Given the description of an element on the screen output the (x, y) to click on. 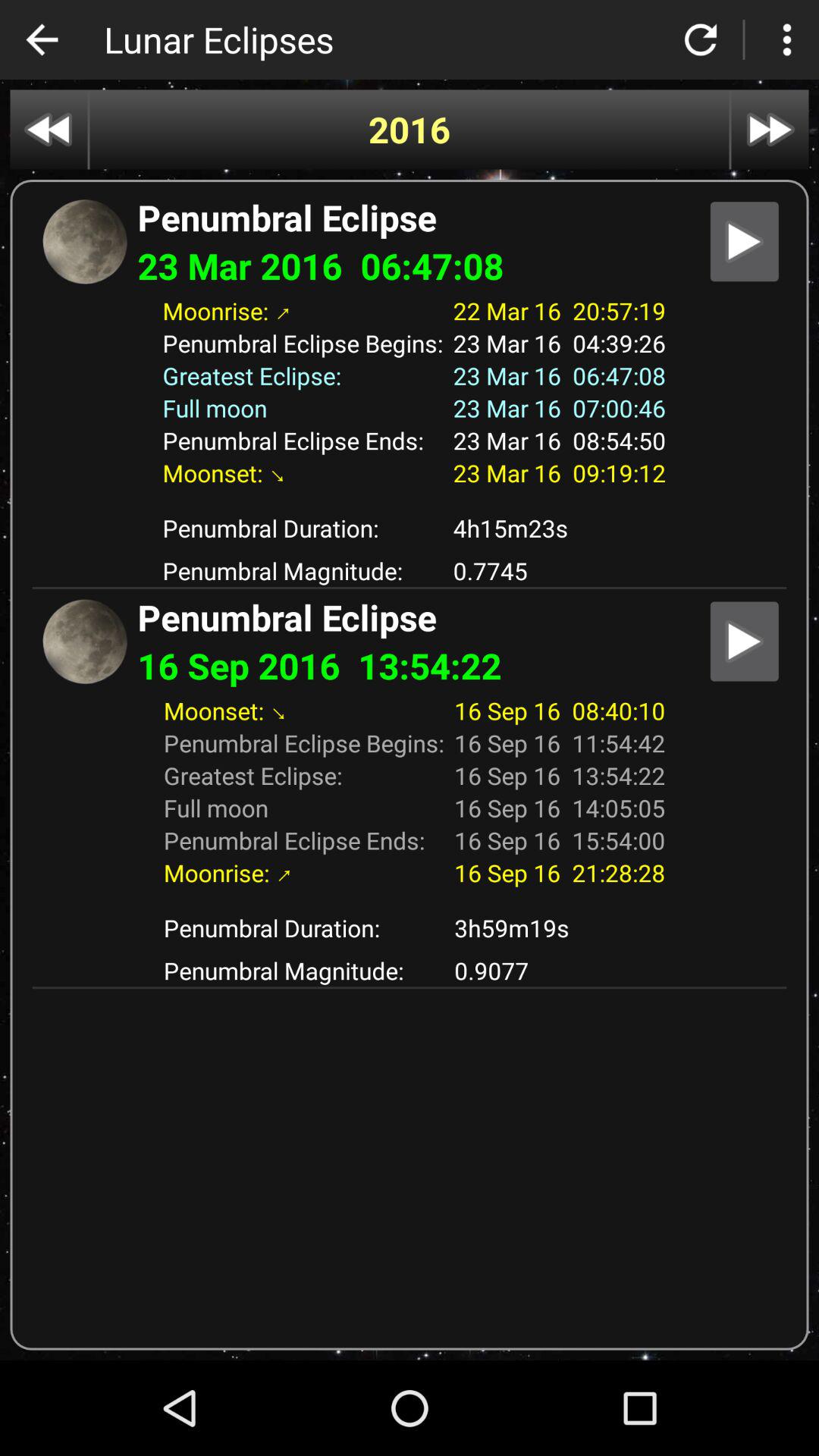
go to next page (769, 129)
